Given the description of an element on the screen output the (x, y) to click on. 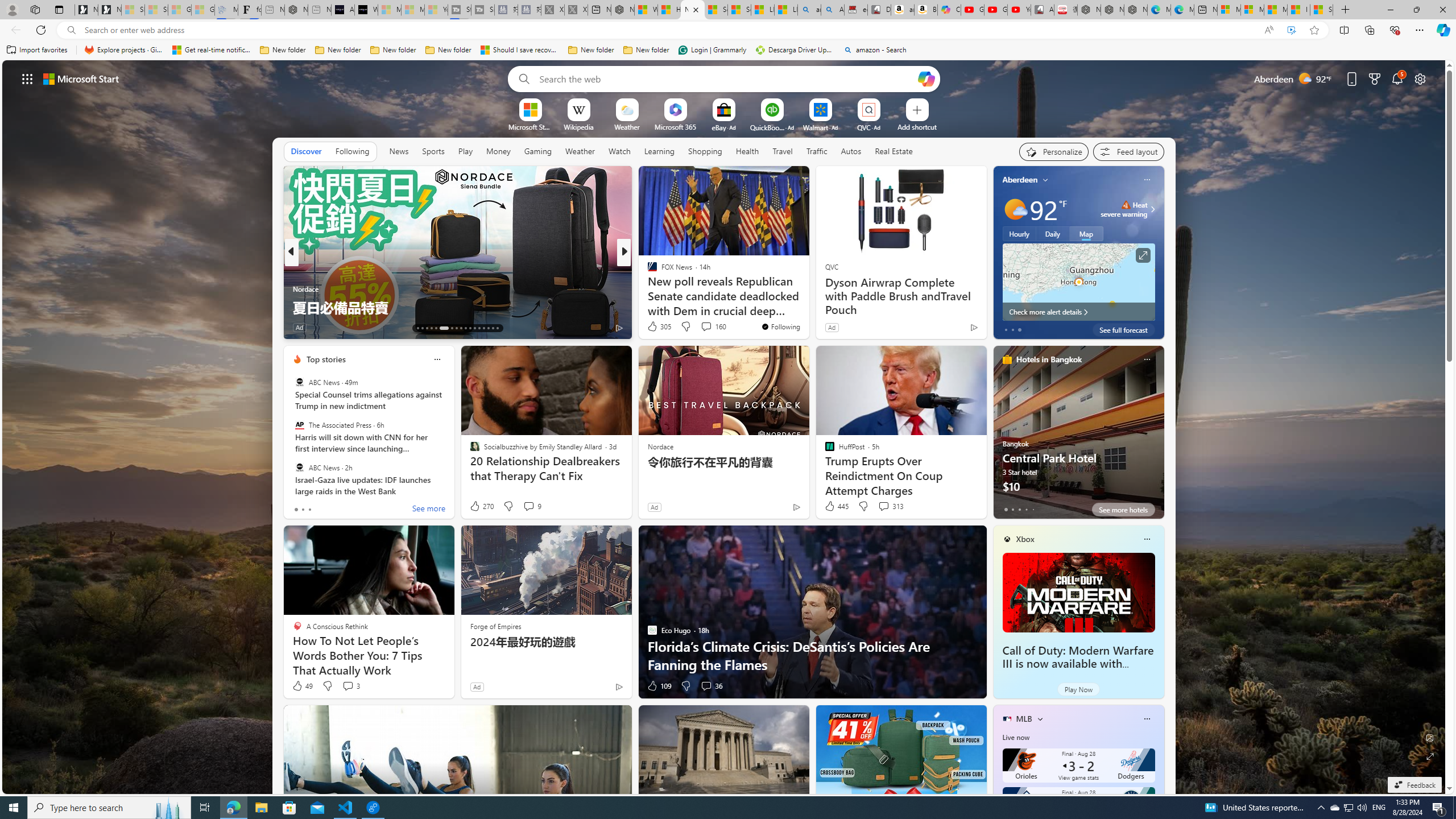
Central Park Hotel (1078, 436)
Mostly sunny (1014, 208)
Autos (850, 151)
Favorites bar (728, 49)
Microsoft 365 (675, 126)
Login | Grammarly (712, 49)
Descarga Driver Updater (794, 49)
386 Like (654, 327)
94 Like (652, 327)
Kathy Kingsley (647, 270)
Weather (579, 151)
